Given the description of an element on the screen output the (x, y) to click on. 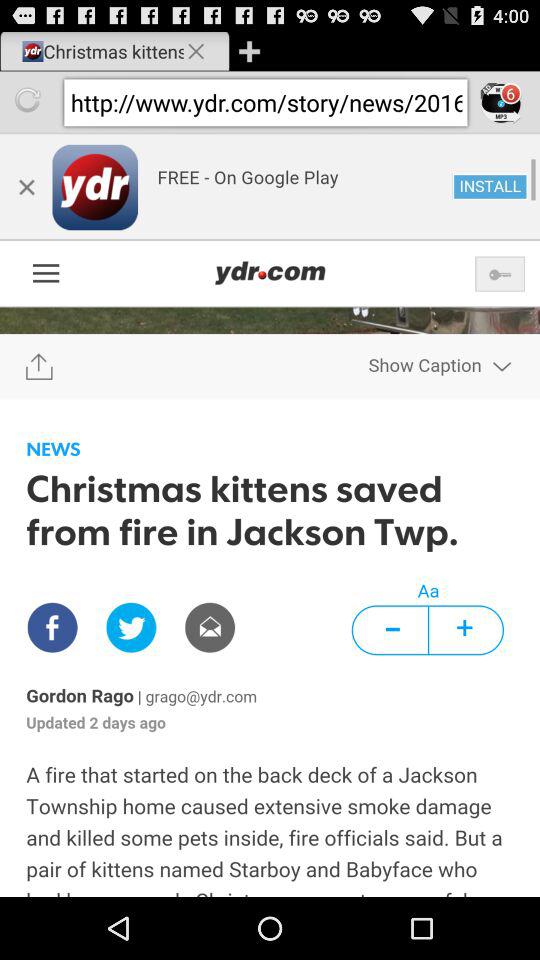
add new tab (249, 50)
